Given the description of an element on the screen output the (x, y) to click on. 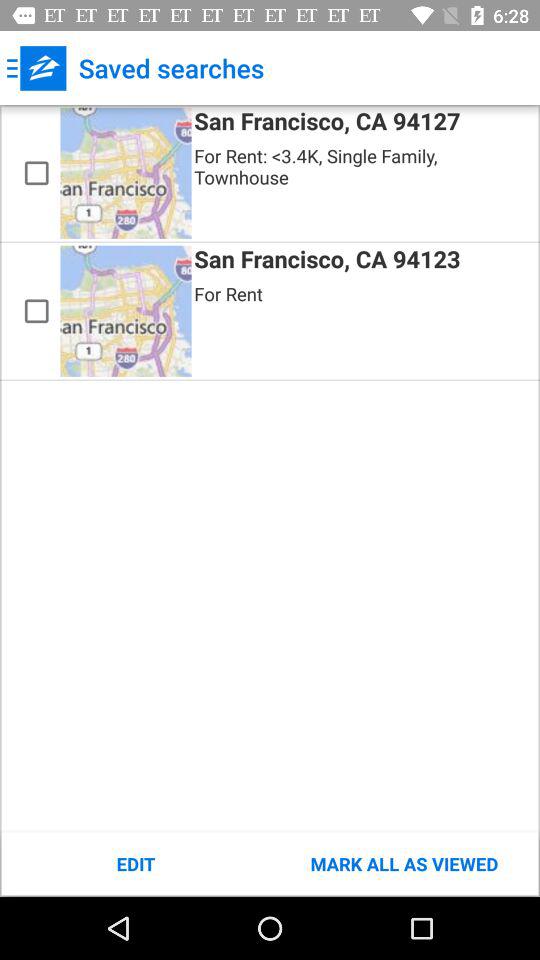
turn on item next to mark all as (135, 863)
